Given the description of an element on the screen output the (x, y) to click on. 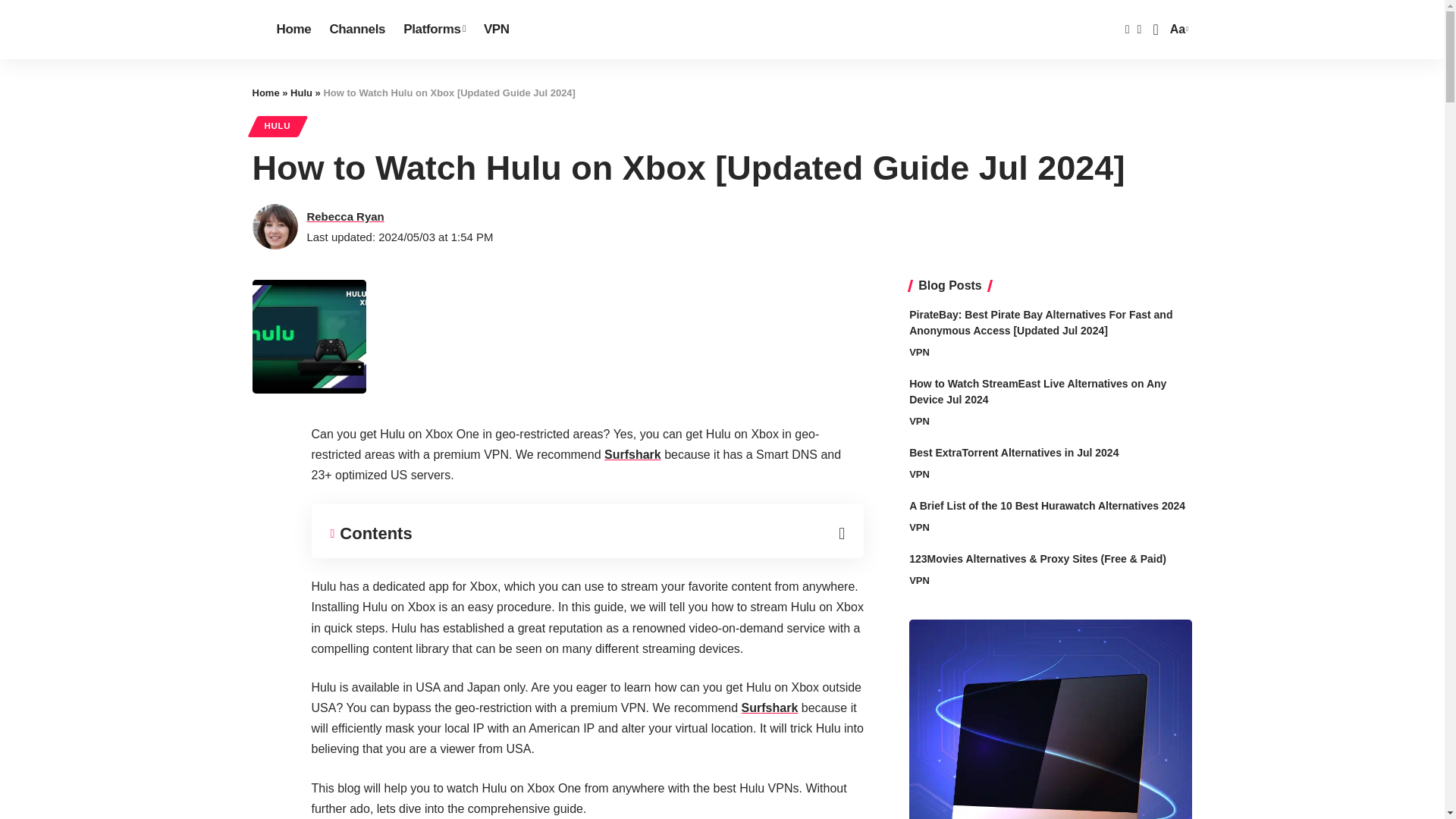
Home (265, 92)
Home (293, 29)
VPN (496, 29)
Channels (357, 29)
HULU (276, 125)
Hulu (1177, 28)
Platforms (301, 92)
Surfshark (434, 29)
Rebecca Ryan (632, 454)
